Given the description of an element on the screen output the (x, y) to click on. 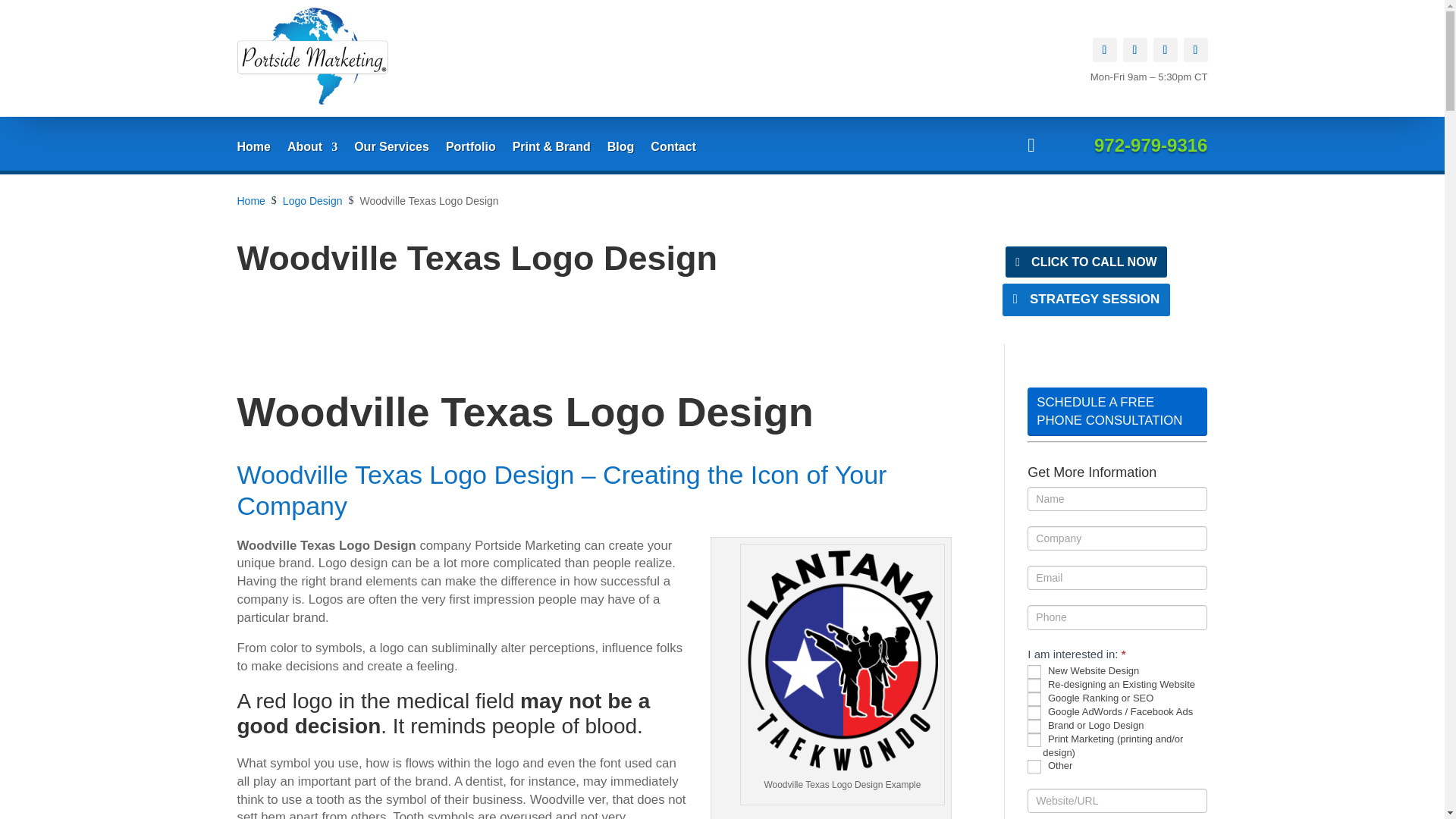
Portside-Marketing-Logo (311, 57)
Our Services (391, 149)
Re-designing an Existing Website (1034, 685)
Google Ranking or SEO (1034, 698)
Home (252, 149)
Contact (672, 149)
New Website Design (1034, 671)
Follow on Facebook (1104, 49)
Follow on X (1134, 49)
Blog (620, 149)
About (311, 149)
Follow on Youtube (1194, 49)
Other (1034, 766)
Brand or Logo Design (1034, 726)
Portfolio (470, 149)
